Given the description of an element on the screen output the (x, y) to click on. 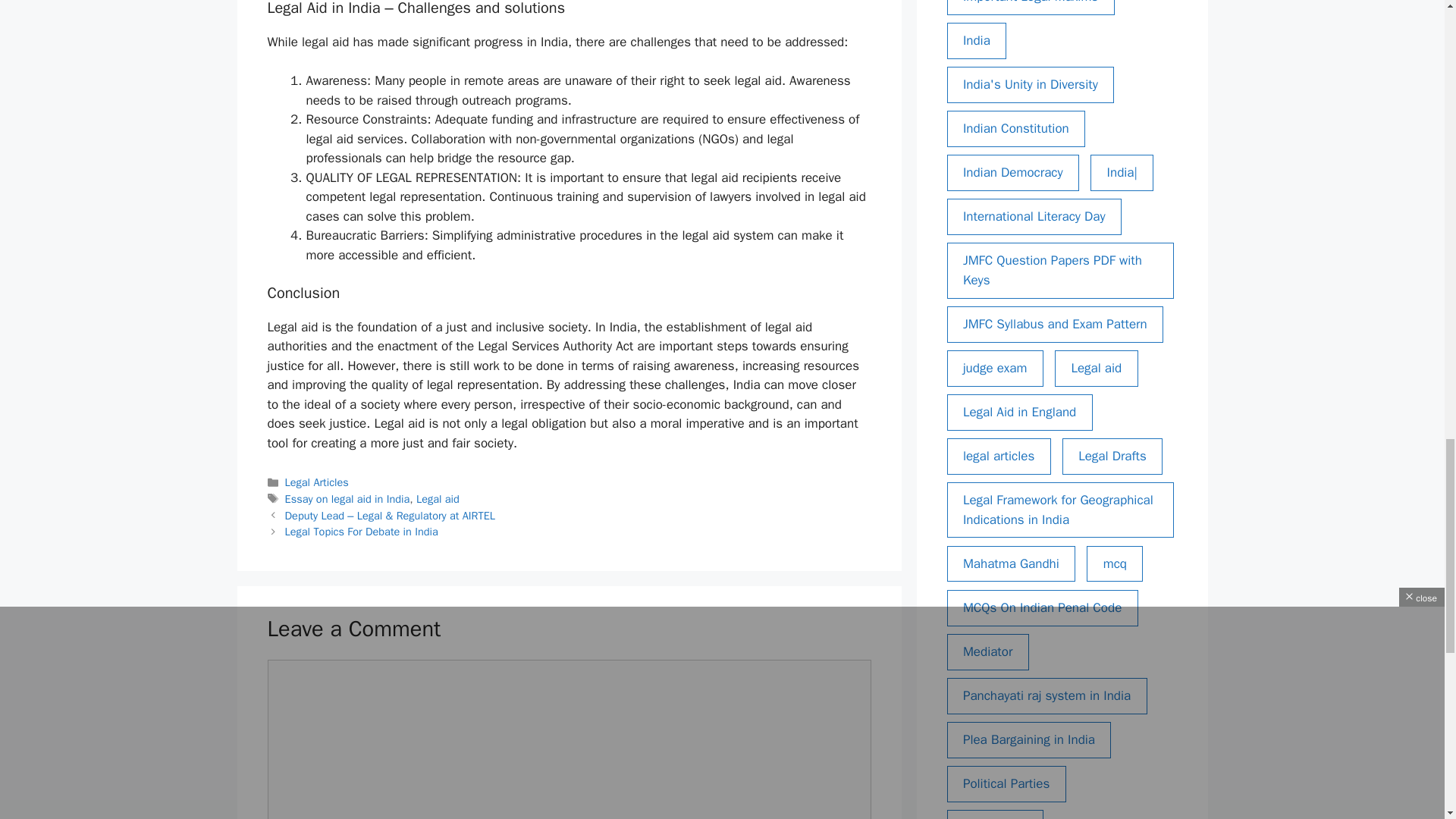
Essay on legal aid in India (347, 499)
Legal Topics For Debate in India (361, 531)
Legal Articles (317, 481)
Legal aid (438, 499)
